Given the description of an element on the screen output the (x, y) to click on. 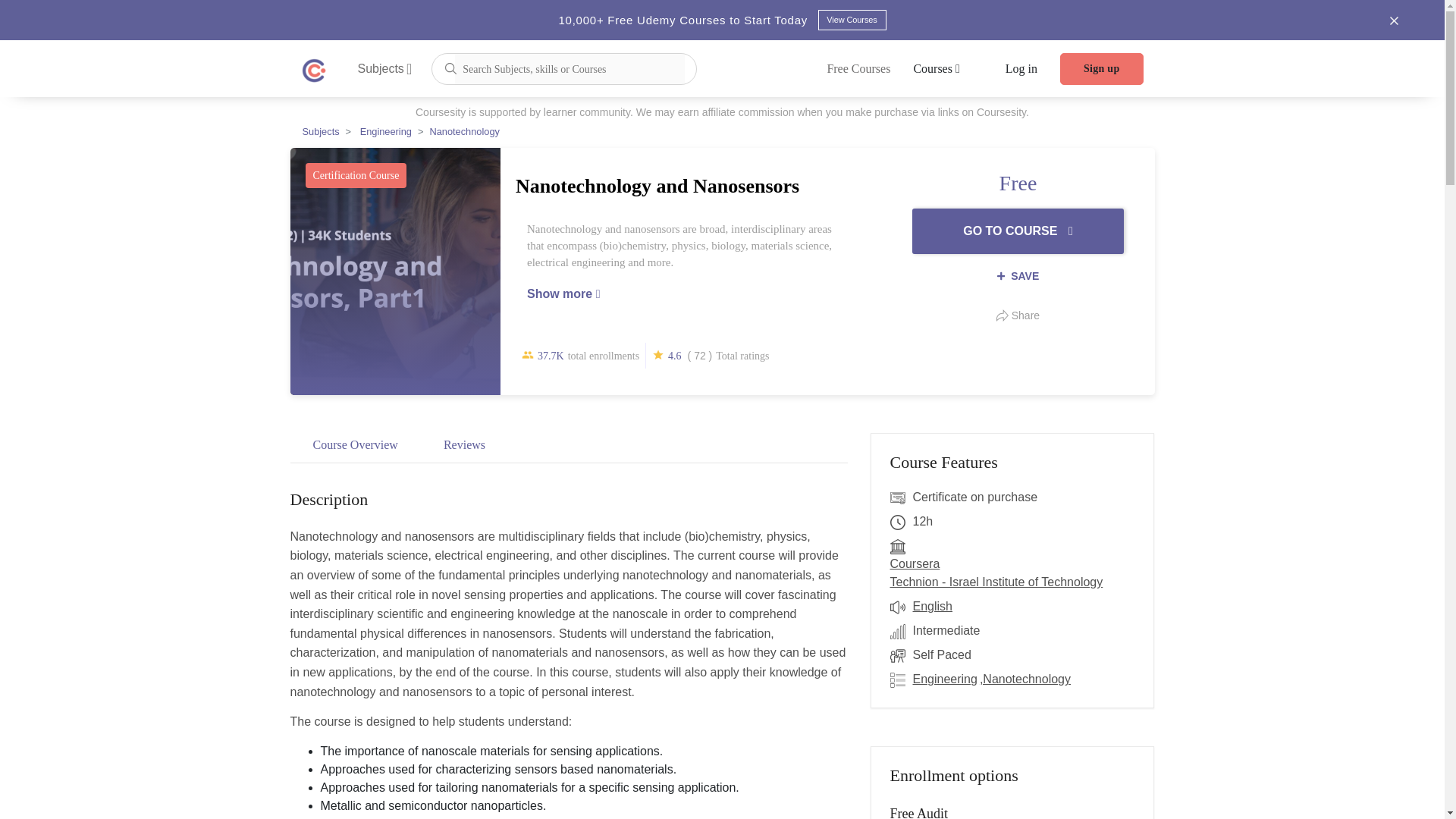
Subjects (384, 68)
Duration (900, 521)
Audio (900, 606)
Topics (900, 679)
Submit the search query. (450, 67)
Type (900, 655)
View Courses (850, 19)
Level (900, 630)
Certification (900, 497)
Offered by (900, 546)
